Given the description of an element on the screen output the (x, y) to click on. 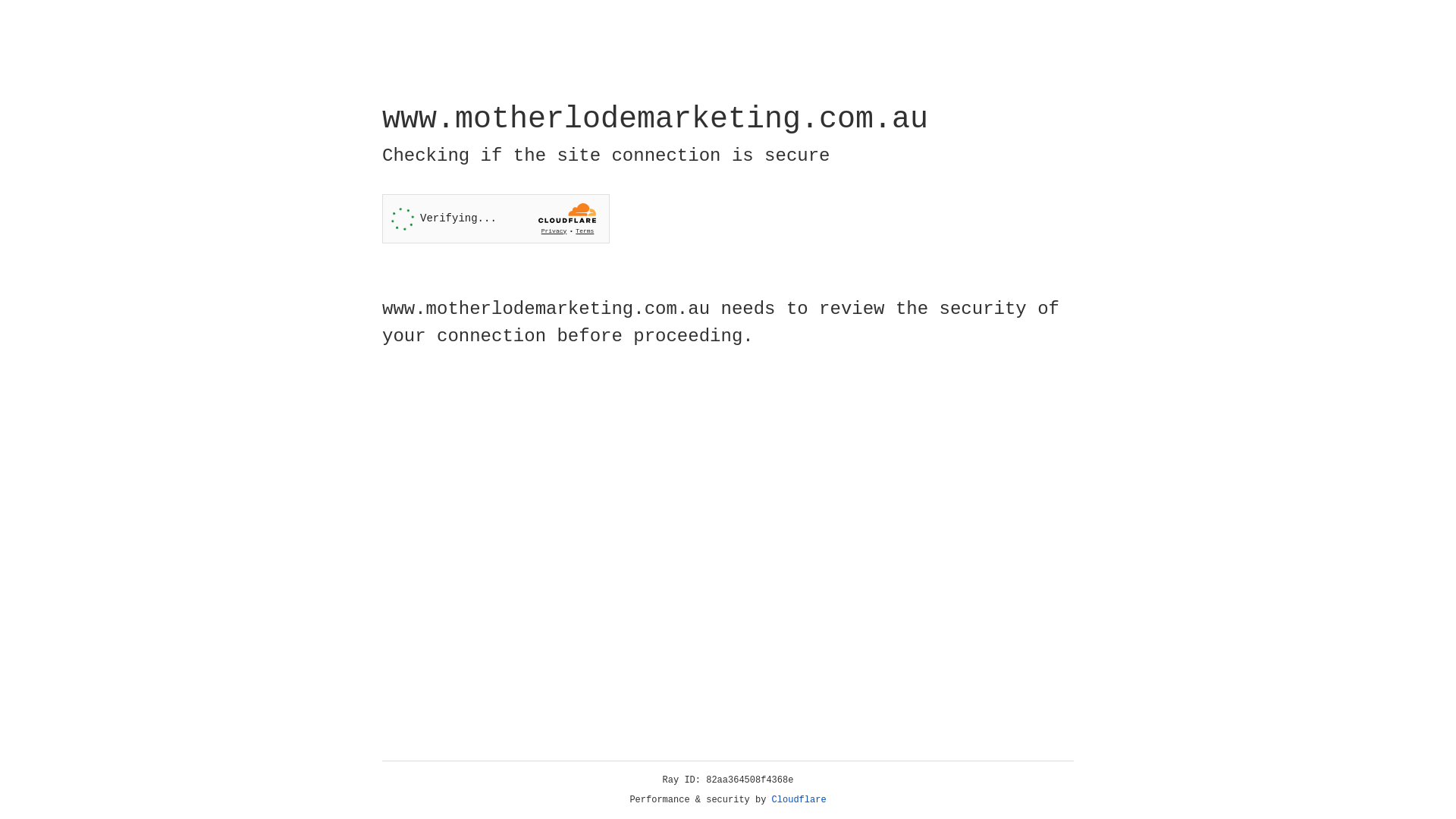
Widget containing a Cloudflare security challenge Element type: hover (495, 218)
Cloudflare Element type: text (798, 799)
